Given the description of an element on the screen output the (x, y) to click on. 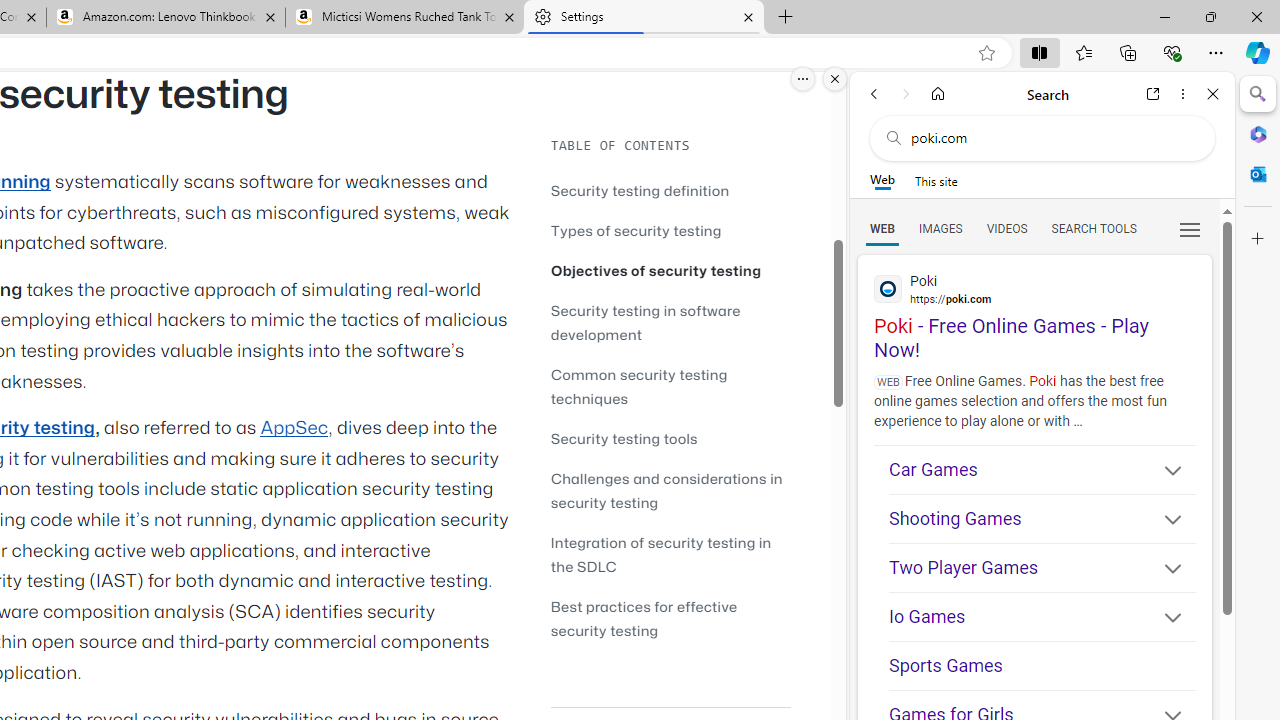
Io Games (1042, 616)
Two Player Games (1042, 568)
WEB   (882, 228)
Common security testing techniques (639, 385)
Best practices for effective security testing (670, 618)
Web scope (882, 180)
VIDEOS (1006, 228)
Shooting Games (1042, 519)
Sports Games (1042, 665)
Io Games (1042, 617)
Security testing in software development (645, 321)
Car Games (1042, 469)
Objectives of security testing (655, 270)
Search Filter, IMAGES (939, 228)
